Given the description of an element on the screen output the (x, y) to click on. 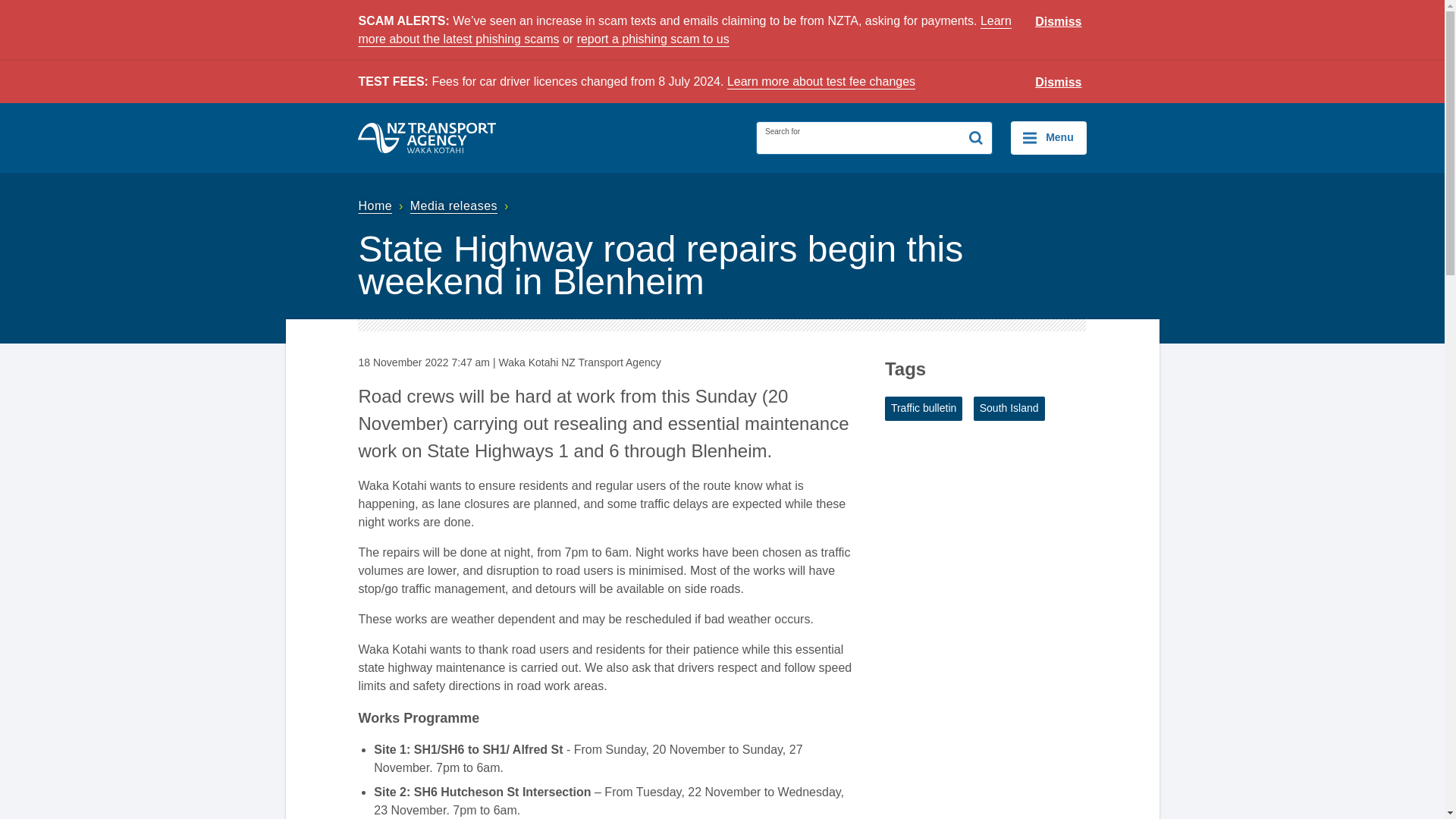
Home (382, 205)
Menu (1048, 137)
Dismiss (1058, 21)
View all posts tagged 'South Island' (1009, 408)
NZ Transport Agency Waka Kotahi (427, 137)
View all posts tagged 'Traffic bulletin' (923, 408)
Learn more about the latest phishing scams (684, 29)
Learn more about test fee changes (820, 81)
Dismiss (1058, 82)
report a phishing scam to us (652, 38)
